Given the description of an element on the screen output the (x, y) to click on. 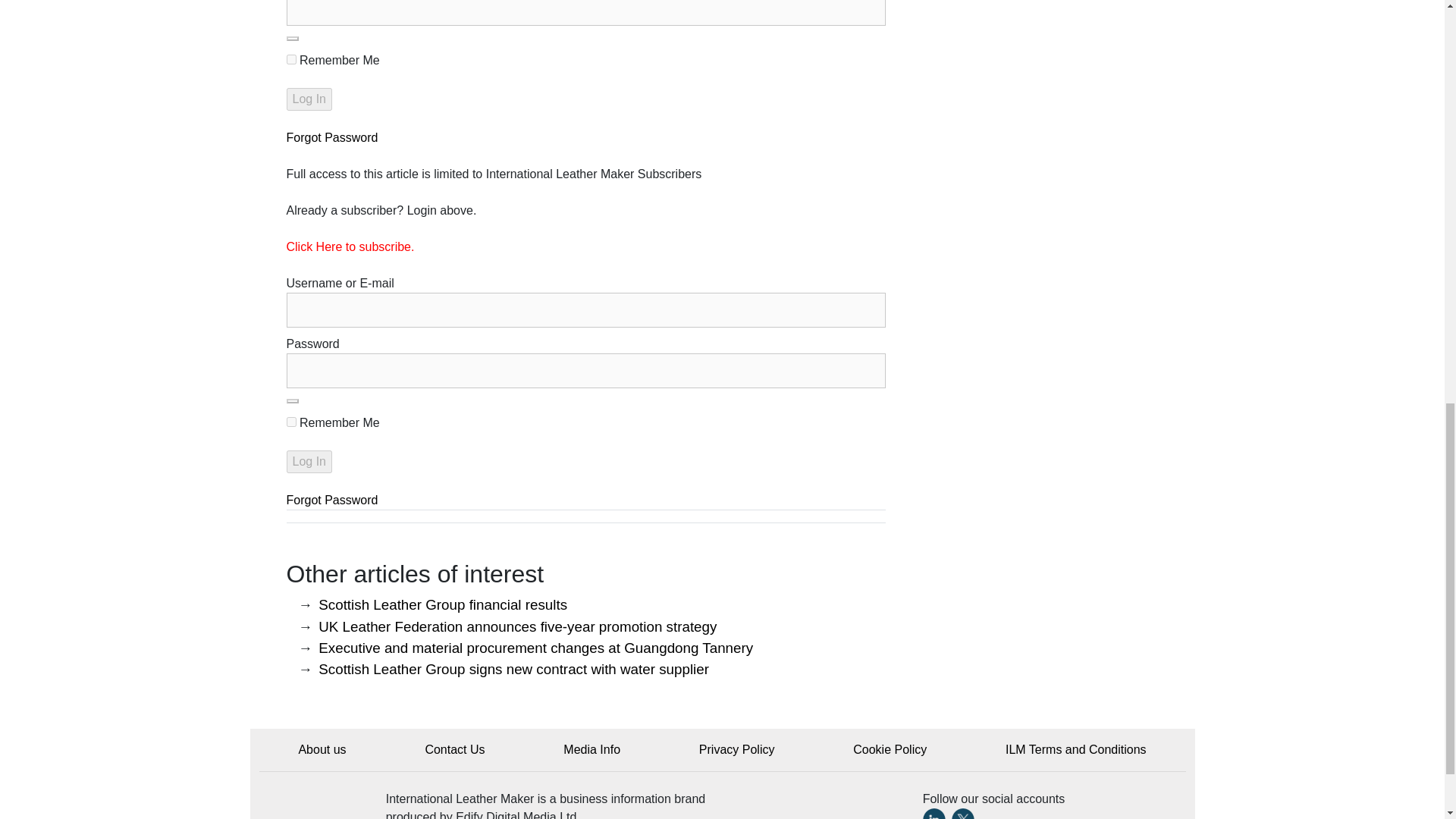
Forgot Password (332, 499)
Forgot Password (332, 137)
Log In (308, 98)
Log In (308, 461)
Log In (308, 98)
Cookie Policy (889, 748)
Log In (308, 461)
Privacy Policy (736, 748)
forever (291, 421)
